Given the description of an element on the screen output the (x, y) to click on. 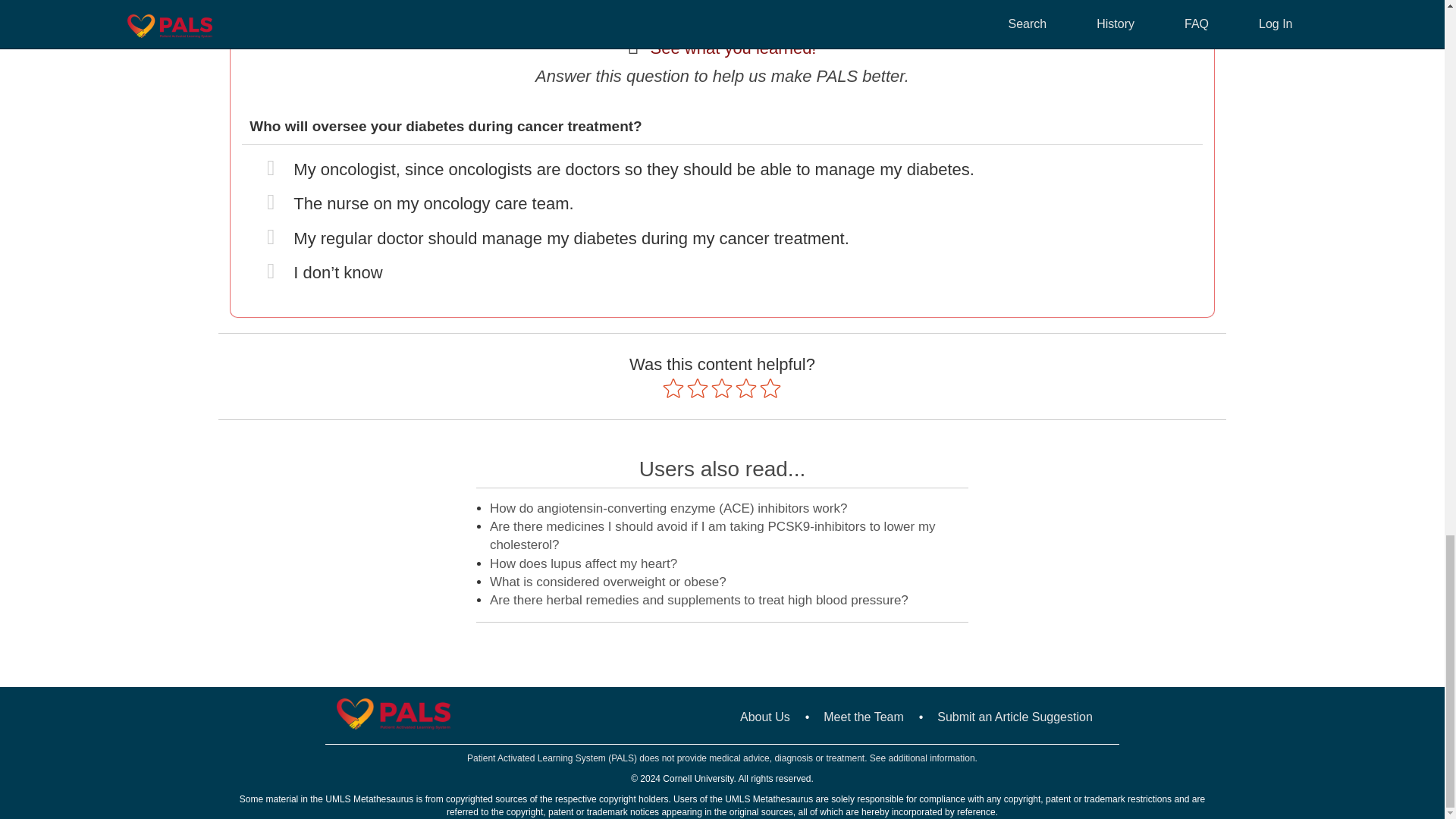
on (322, 268)
on (555, 234)
Meet the Team (864, 716)
How does lupus affect my heart? (583, 563)
Submit an Article Suggestion (1015, 716)
About Us (764, 716)
on (619, 165)
on (417, 199)
